Given the description of an element on the screen output the (x, y) to click on. 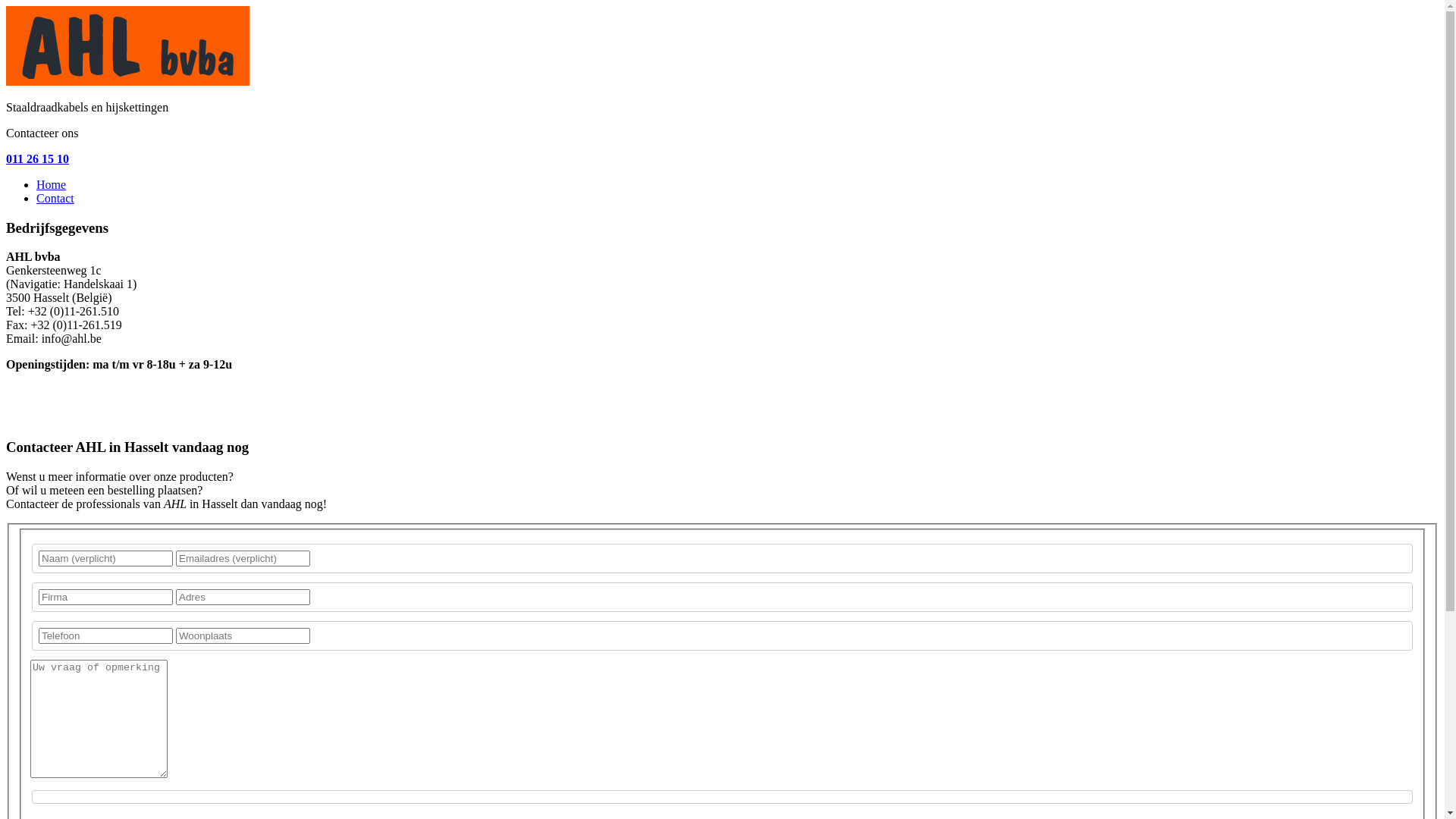
011 26 15 10 Element type: text (37, 158)
Home Element type: text (50, 184)
Contact Element type: text (55, 197)
